Given the description of an element on the screen output the (x, y) to click on. 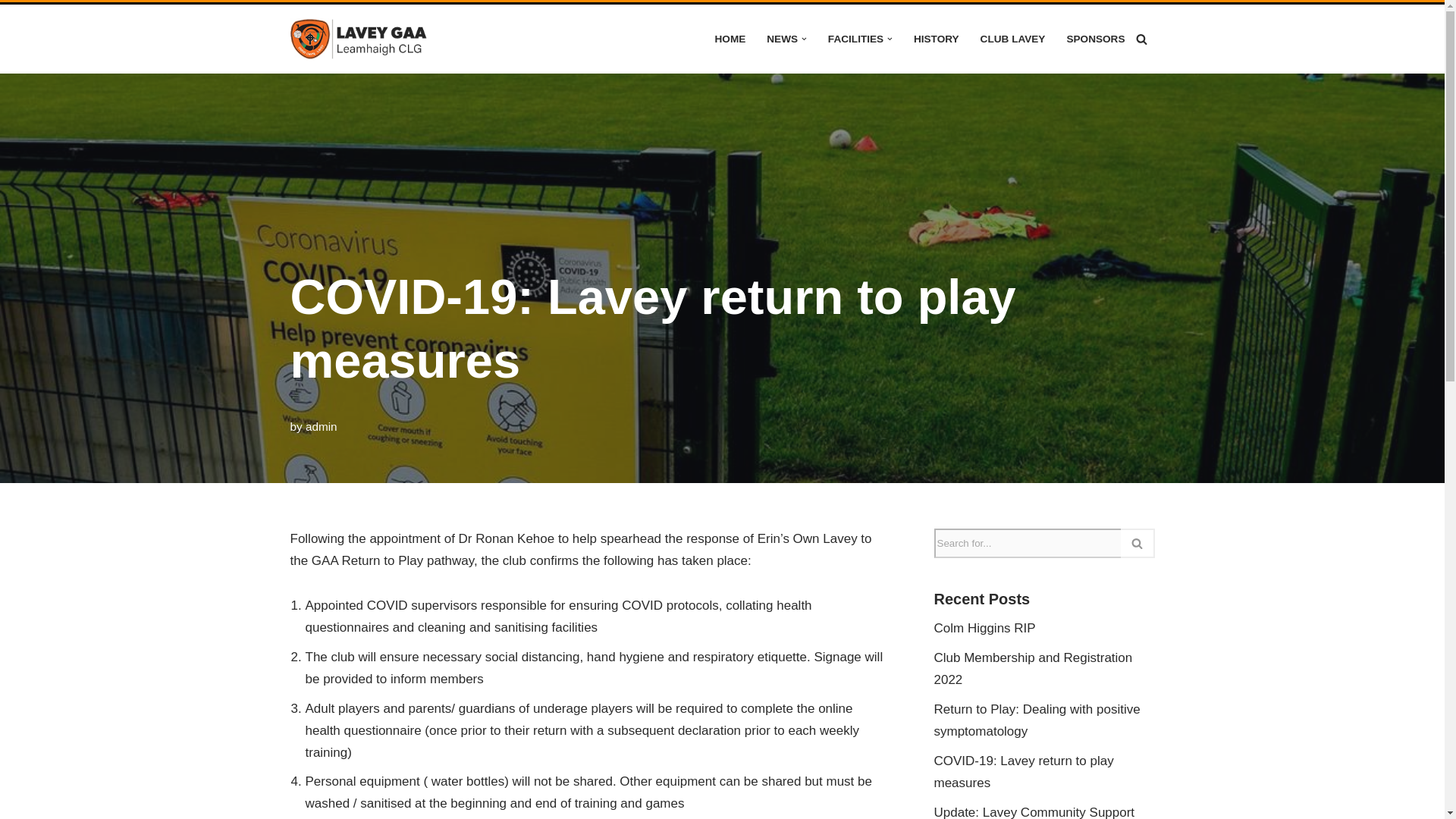
Posts by admin (321, 426)
NEWS (782, 38)
admin (321, 426)
FACILITIES (855, 38)
HISTORY (936, 38)
Skip to content (11, 36)
HOME (729, 38)
SPONSORS (1094, 38)
CLUB LAVEY (1012, 38)
